Given the description of an element on the screen output the (x, y) to click on. 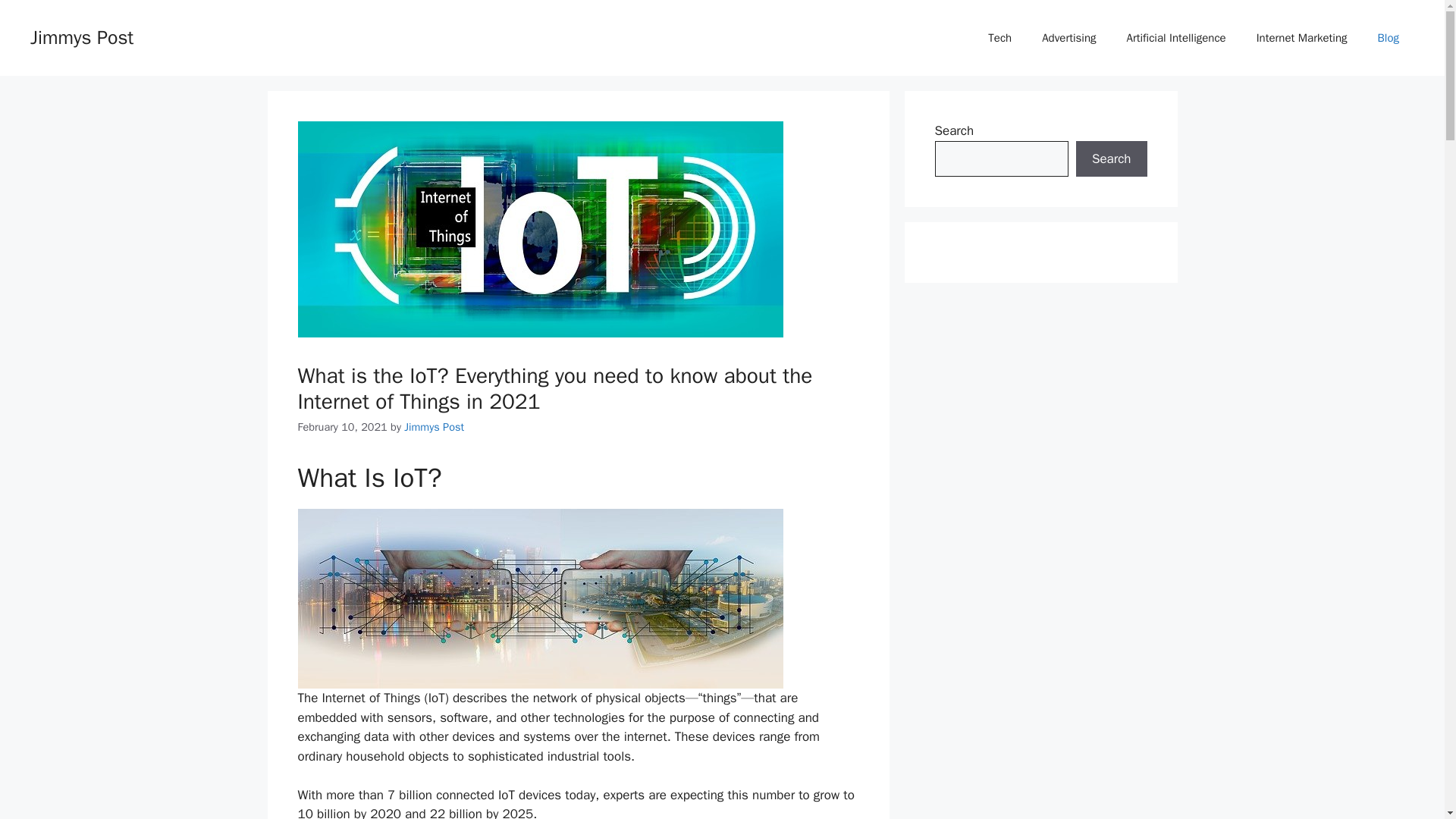
Artificial Intelligence (1176, 37)
Advertising (1068, 37)
Tech (999, 37)
Blog (1387, 37)
Internet Marketing (1301, 37)
Jimmys Post (434, 427)
View all posts by Jimmys Post (434, 427)
Jimmys Post (81, 37)
Search (1111, 158)
